Given the description of an element on the screen output the (x, y) to click on. 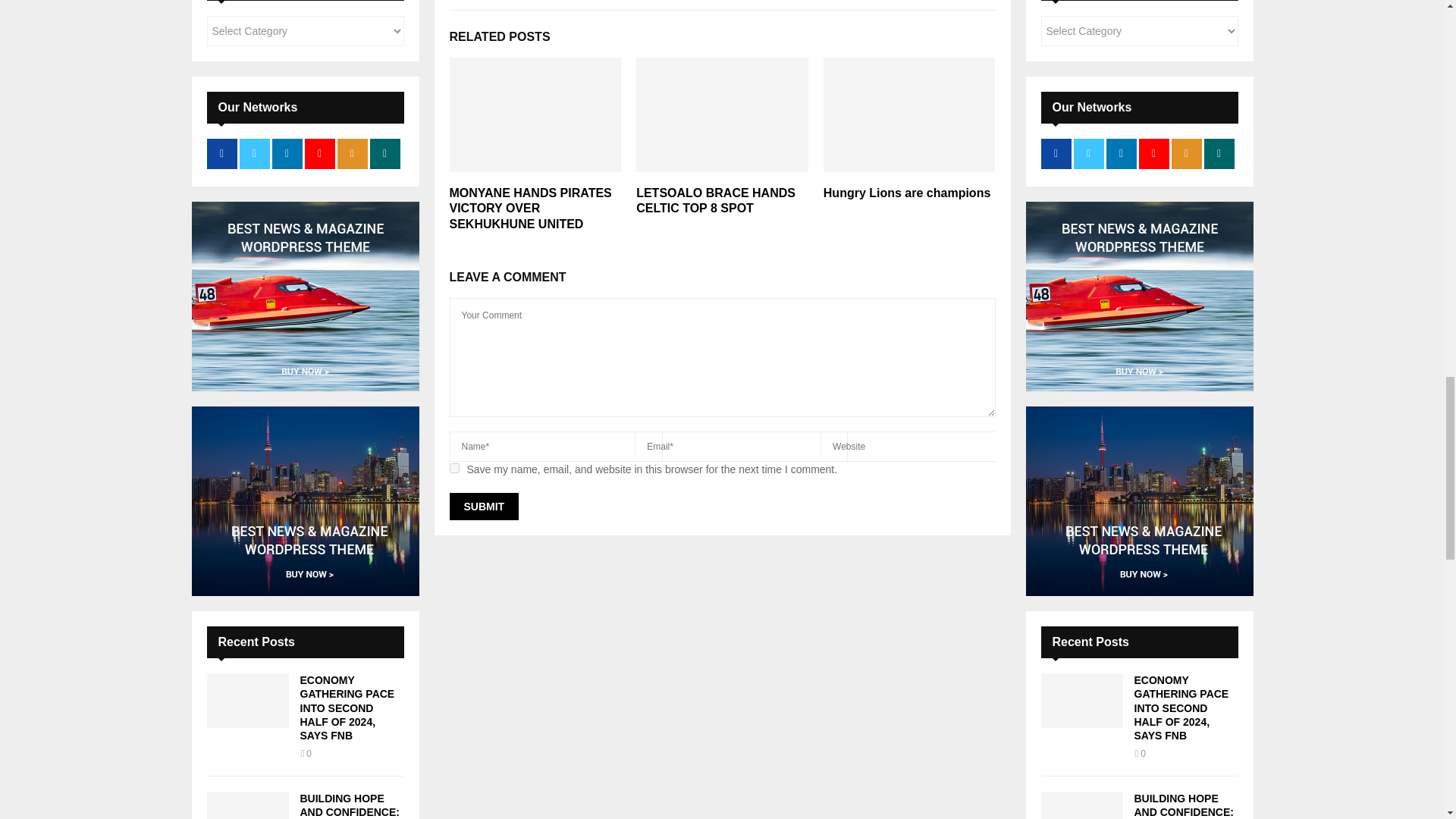
Submit (483, 506)
yes (453, 468)
